Given the description of an element on the screen output the (x, y) to click on. 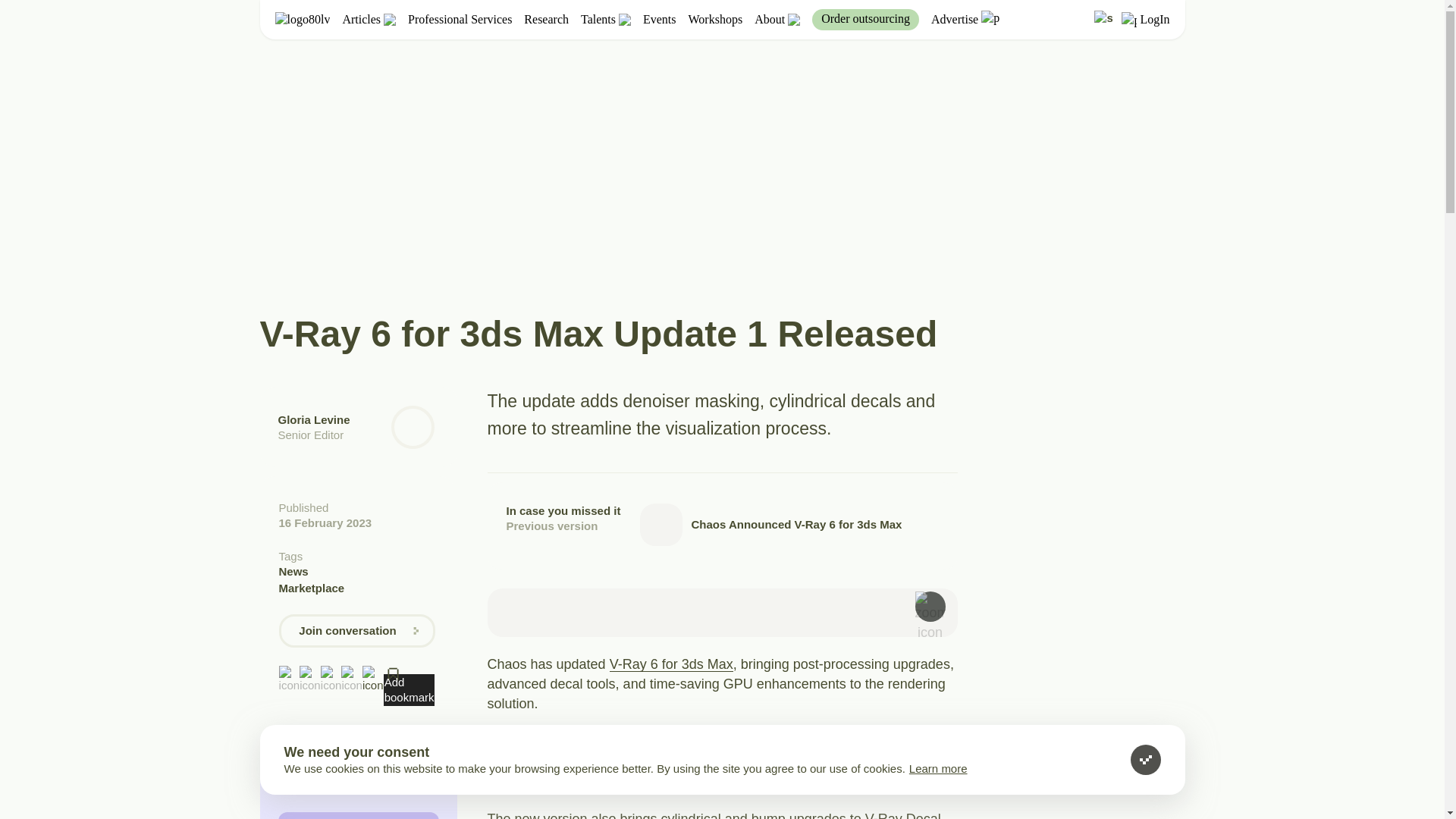
Learn more (938, 768)
LinkedIn (331, 672)
Facebook (289, 672)
Chaos Announced V-Ray 6 for 3ds Max (789, 524)
Join conversation (357, 630)
Order outsourcing (865, 19)
News (357, 571)
Marketplace (357, 588)
Gloria Levine (313, 419)
V-Ray 6 for 3ds Max (671, 663)
